Given the description of an element on the screen output the (x, y) to click on. 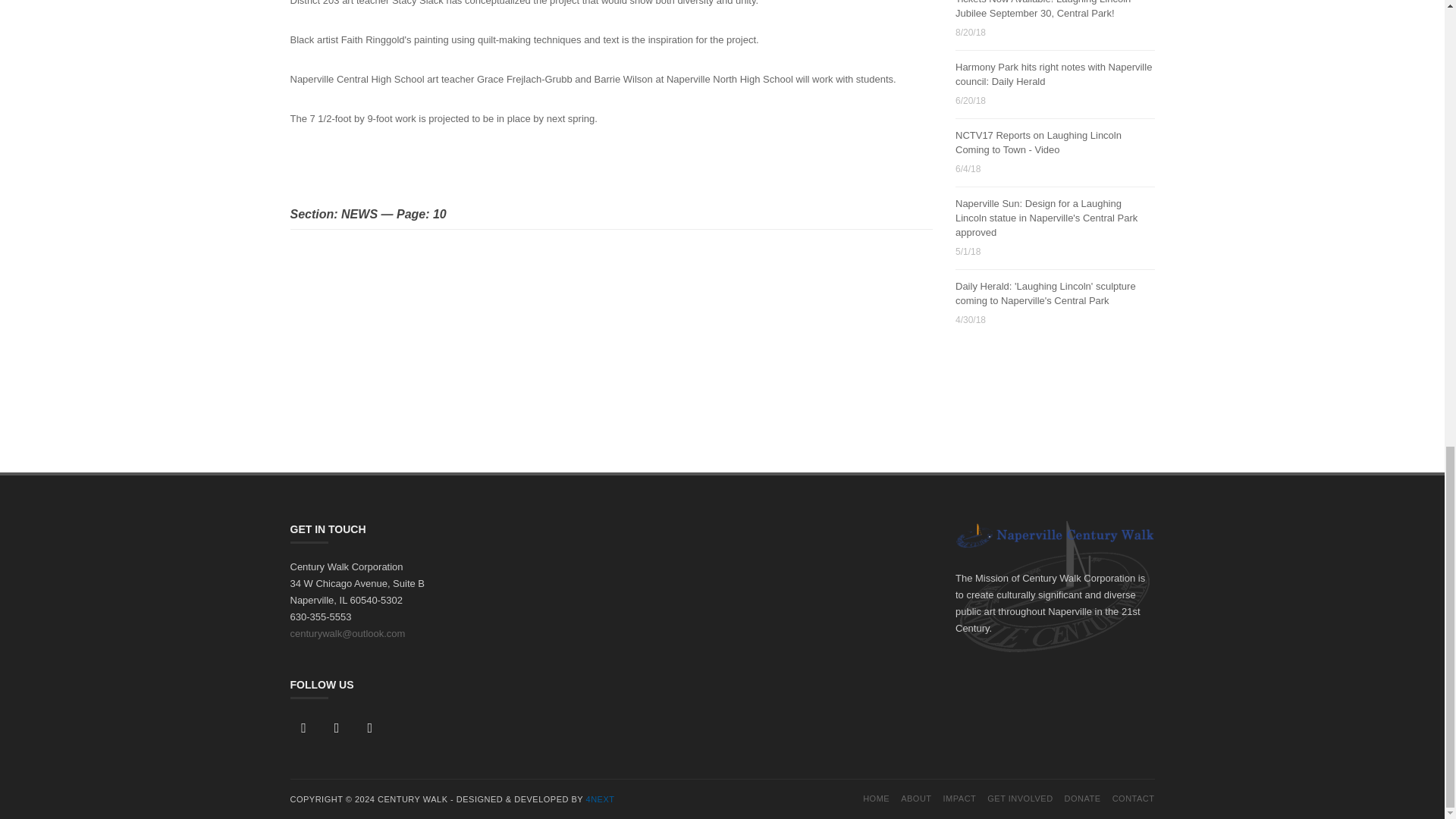
NCTV17 Reports on Laughing Lincoln Coming to Town - Video (1038, 142)
